Given the description of an element on the screen output the (x, y) to click on. 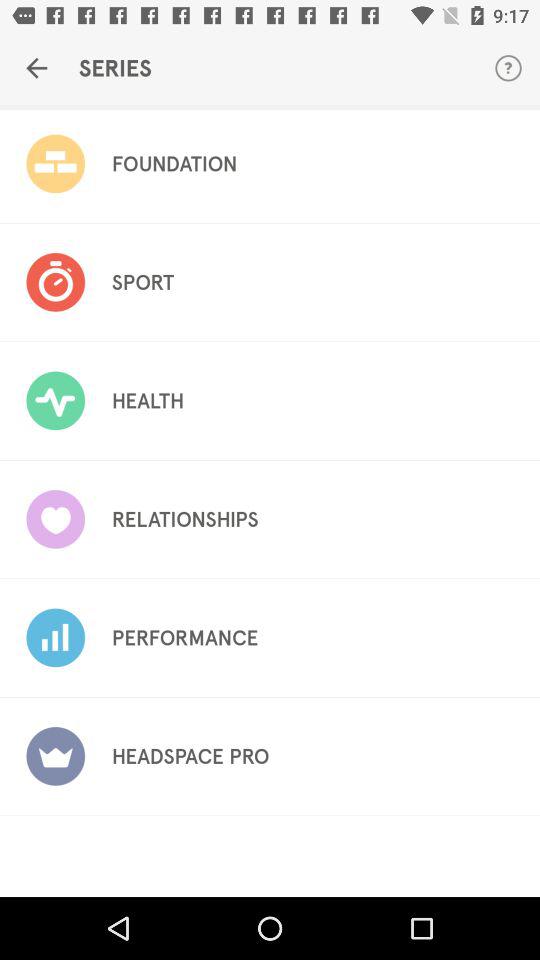
select the icon of sport option (55, 282)
choose the image in fifth option (55, 637)
image left to foundation (55, 163)
select the help icon next to series (508, 68)
click on the icon of health (55, 400)
